Given the description of an element on the screen output the (x, y) to click on. 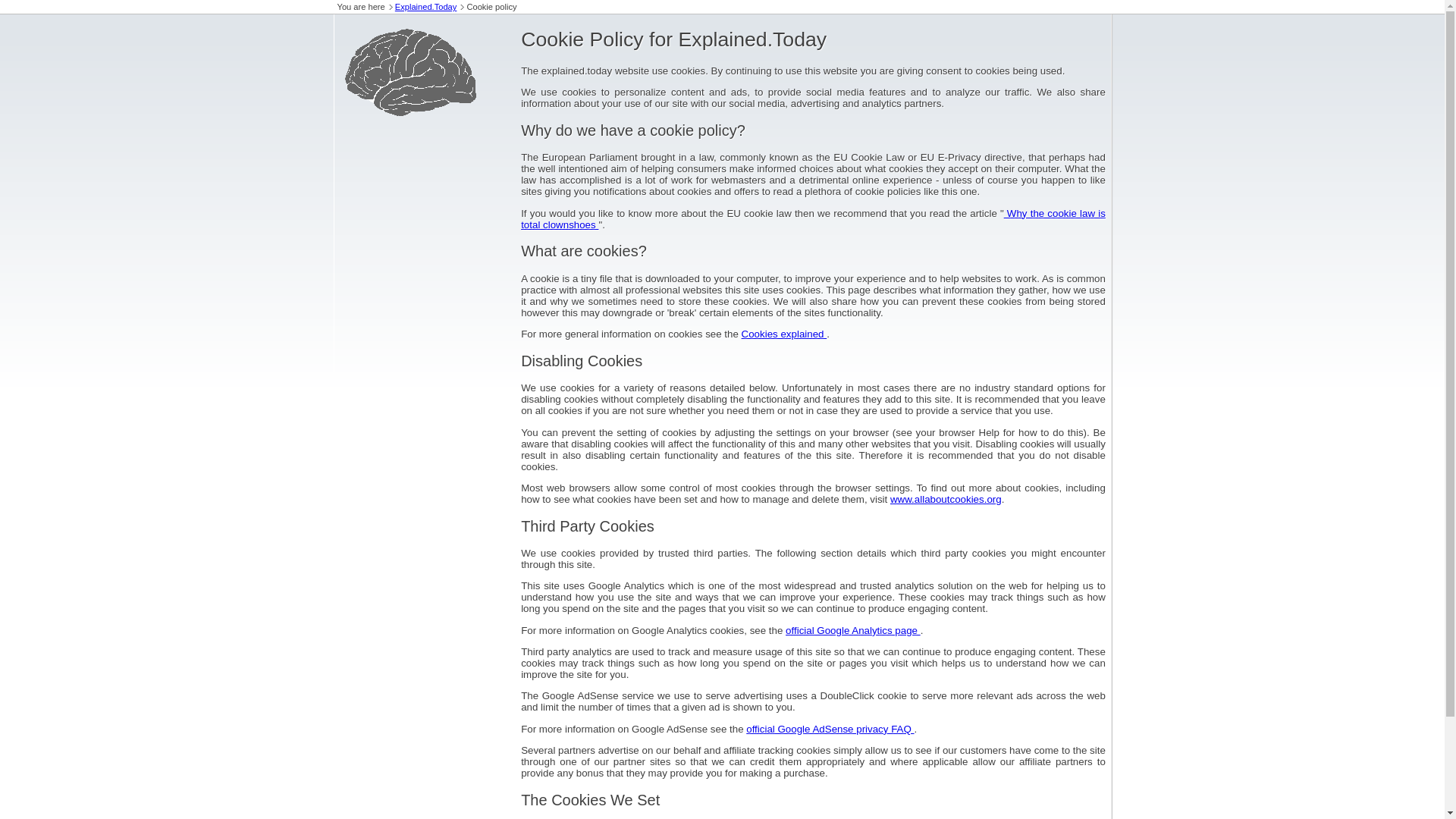
official Google AdSense privacy FAQ (829, 728)
Cookies explained (784, 333)
official Google Analytics page (853, 630)
www.allaboutcookies.org (945, 499)
Why the cookie law is total clownshoes (813, 219)
Explained.Today (425, 6)
